Given the description of an element on the screen output the (x, y) to click on. 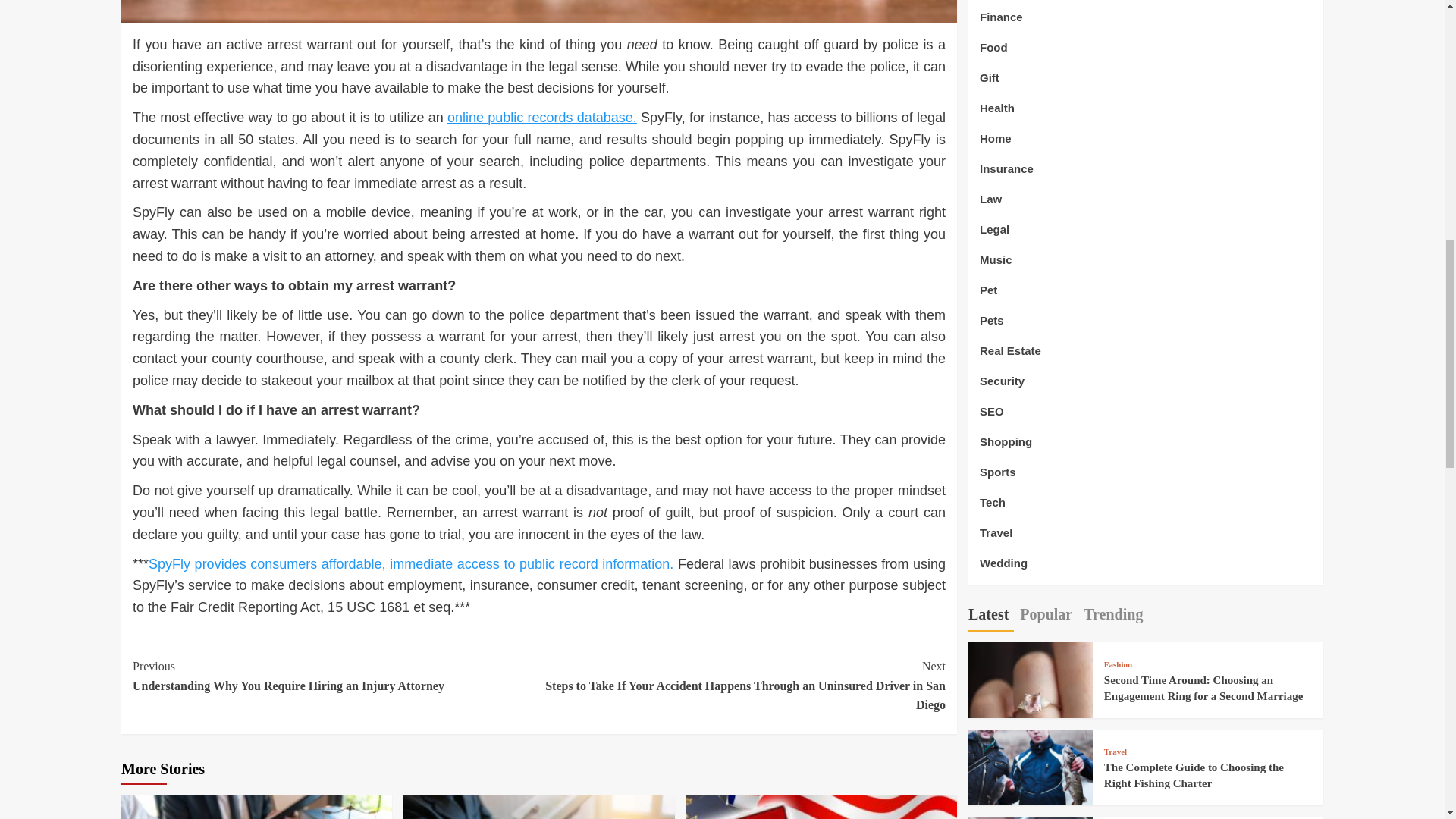
online public records database. (541, 117)
